Given the description of an element on the screen output the (x, y) to click on. 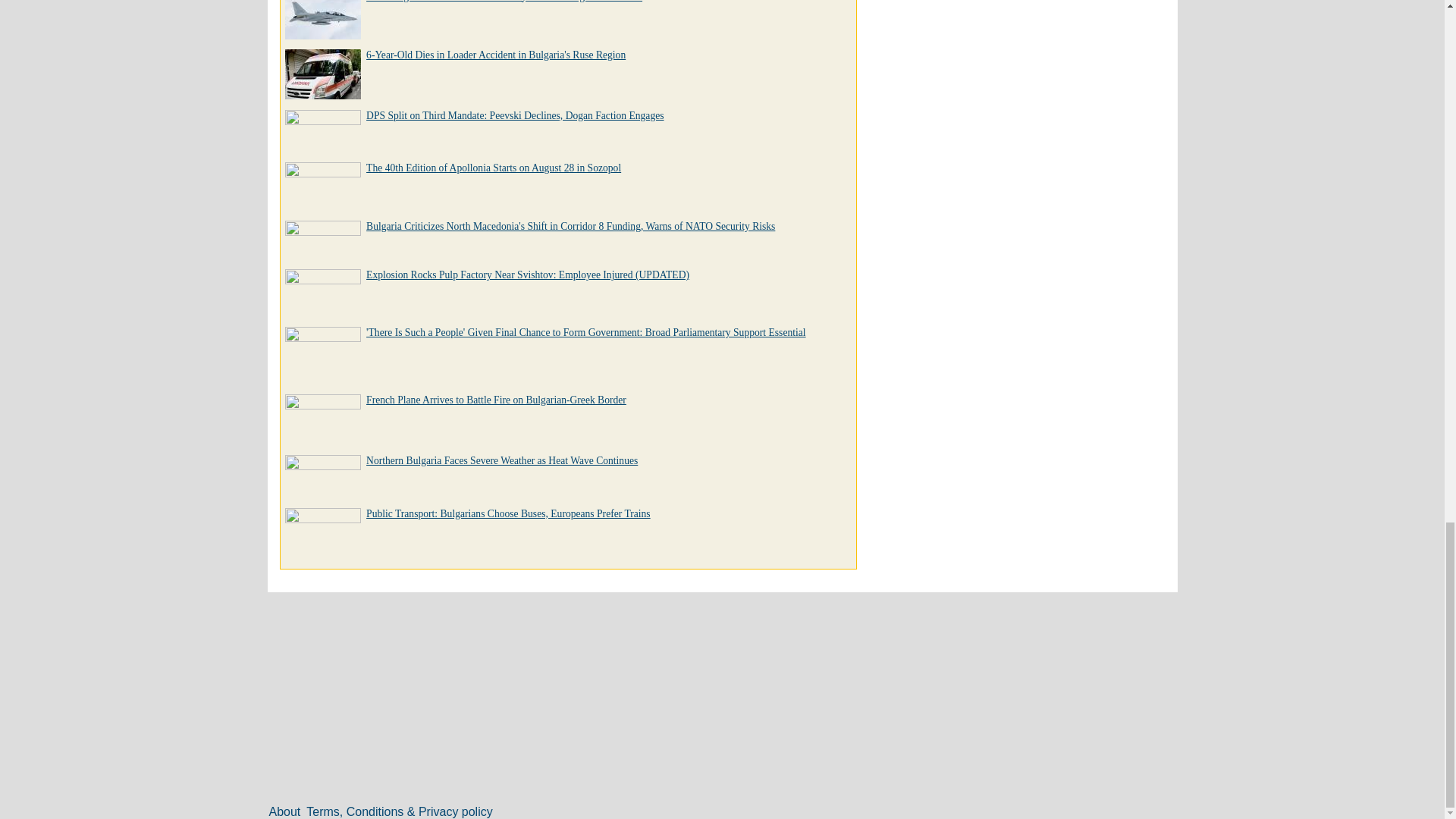
6-Year-Old Dies in Loader Accident in Bulgaria's Ruse Region (496, 54)
The 40th Edition of Apollonia Starts on August 28 in Sozopol (493, 167)
